Given the description of an element on the screen output the (x, y) to click on. 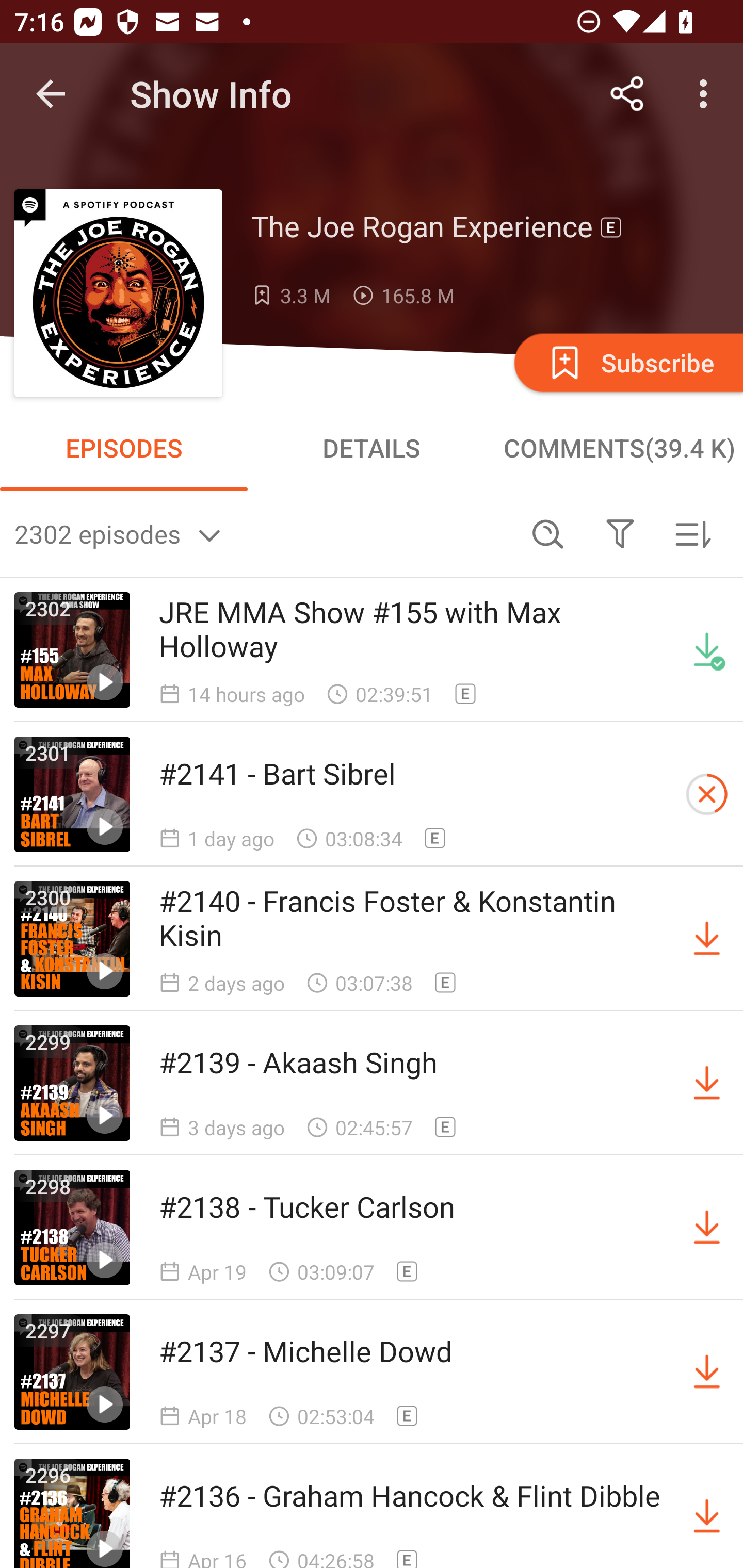
Navigate up (50, 93)
Share (626, 93)
More options (706, 93)
Subscribe (627, 361)
EPISODES (123, 447)
DETAILS (371, 447)
COMMENTS(39.4 K) (619, 447)
2302 episodes  (262, 533)
 Search (547, 533)
 (619, 533)
 Sorted by newest first (692, 533)
Downloaded (706, 649)
Cancel Downloading (706, 793)
Download (706, 939)
Download (706, 1083)
Download (706, 1227)
Download (706, 1371)
Download (706, 1513)
